Given the description of an element on the screen output the (x, y) to click on. 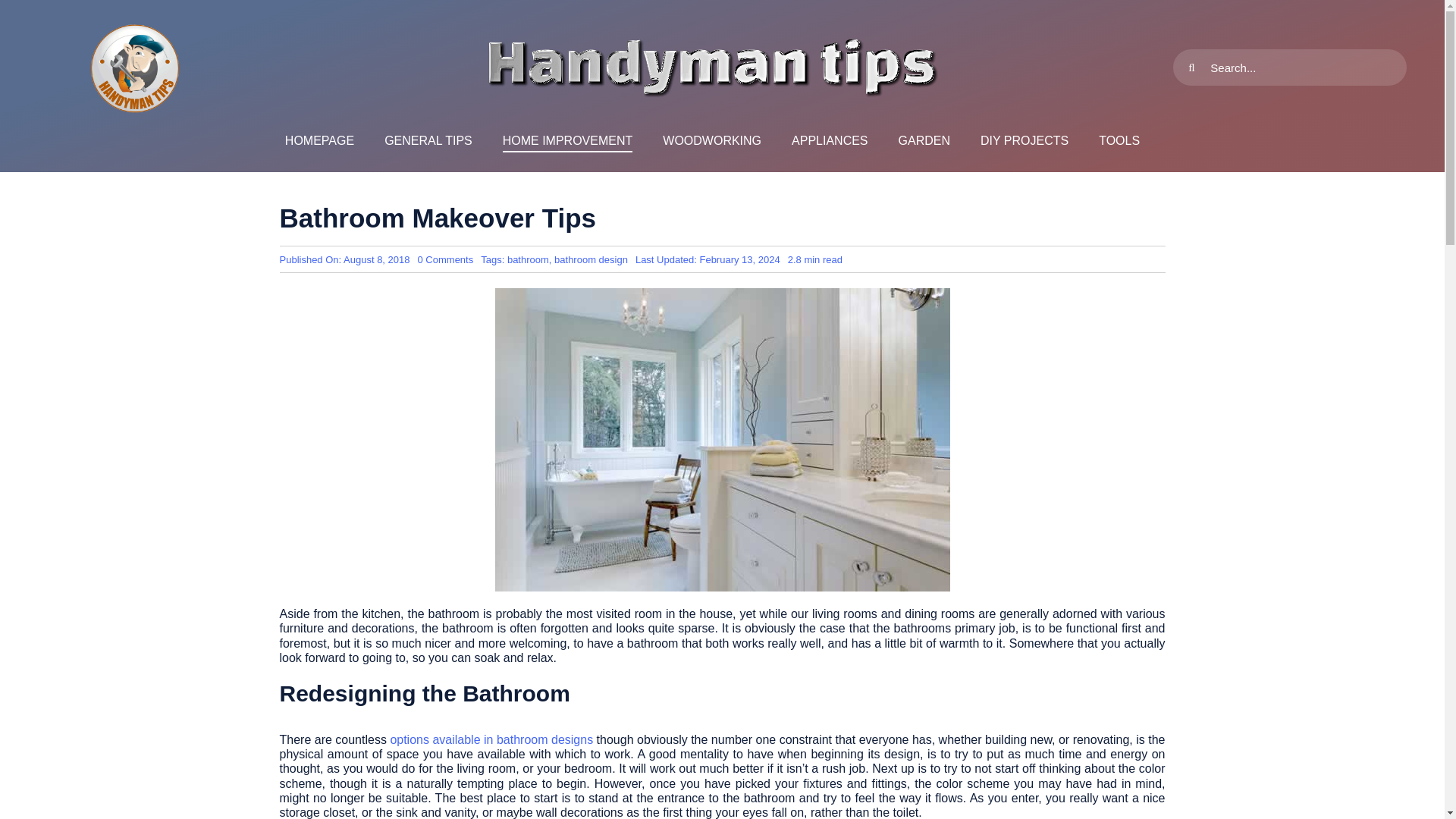
handyman tips text (445, 259)
DIY PROJECTS (711, 67)
bathroom (1023, 141)
GARDEN (527, 259)
GENERAL TIPS (924, 141)
WOODWORKING (427, 141)
APPLIANCES (711, 141)
HOMEPAGE (829, 141)
Handyman tips logo trans (319, 141)
options available in bathroom designs (134, 67)
bathroom design (491, 739)
TOOLS (590, 259)
HOME IMPROVEMENT (1119, 141)
